Given the description of an element on the screen output the (x, y) to click on. 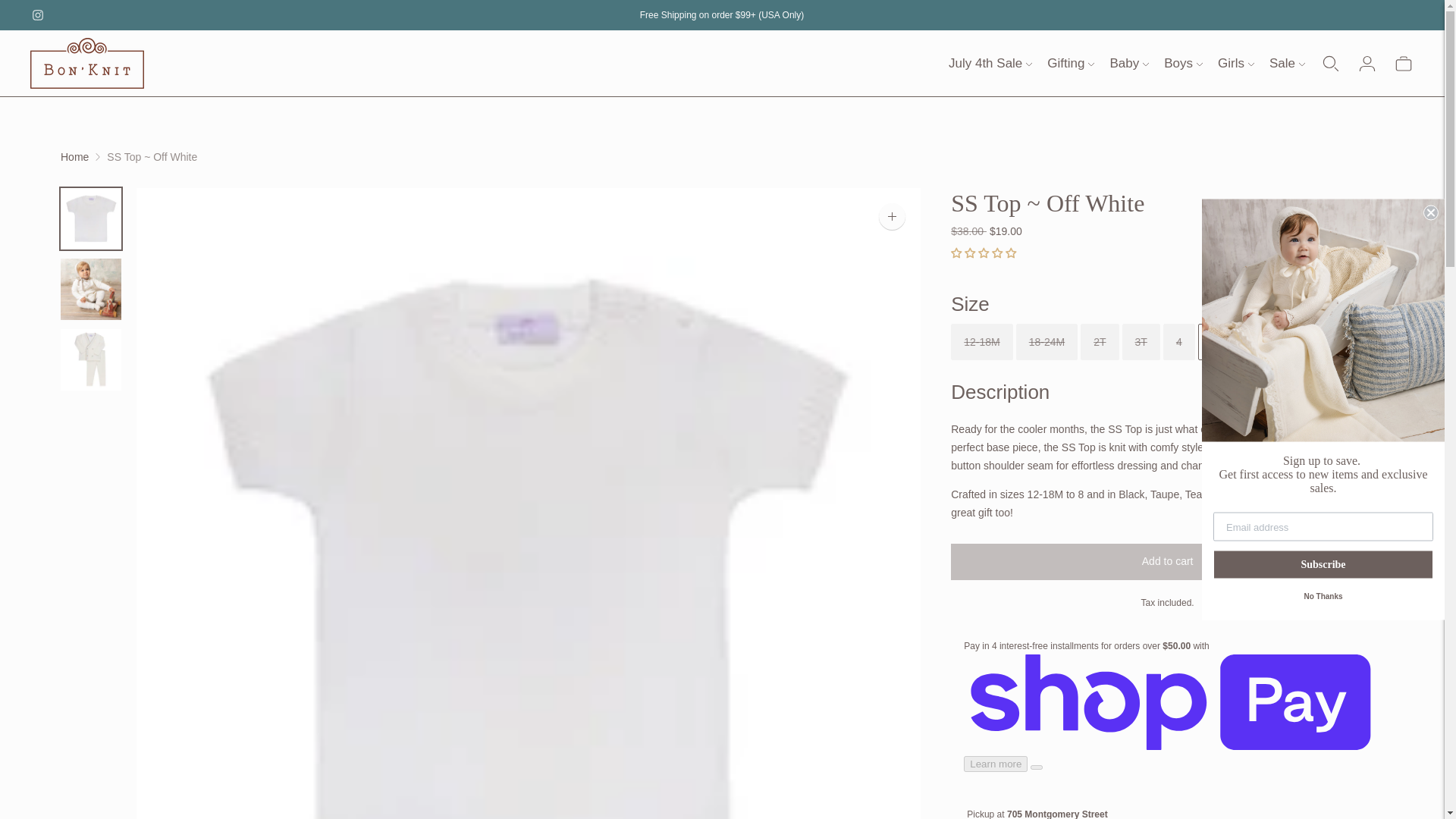
Bon Knit on Instagram (37, 14)
